Given the description of an element on the screen output the (x, y) to click on. 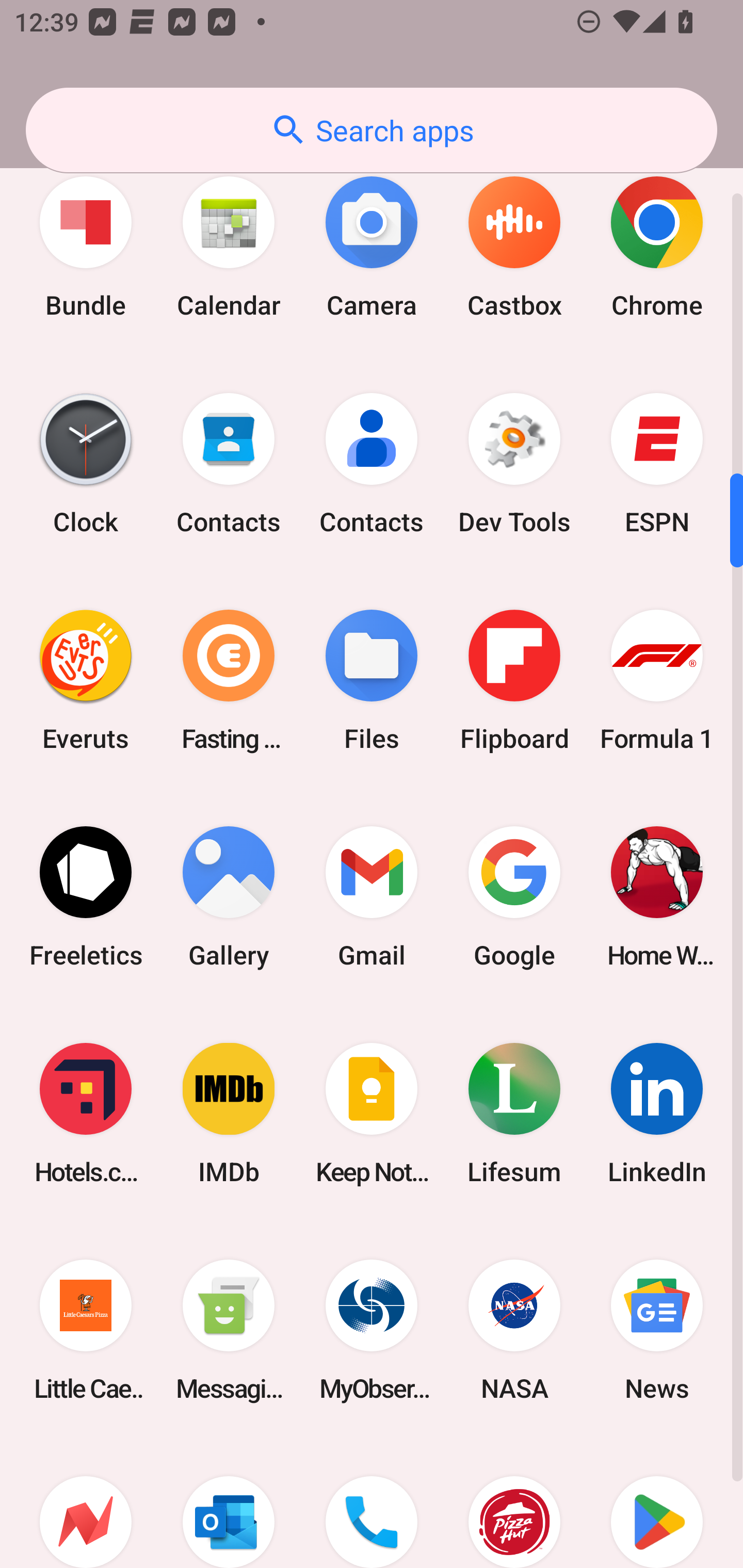
  Search apps (371, 130)
Bundle (85, 246)
Calendar (228, 246)
Camera (371, 246)
Castbox (514, 246)
Chrome (656, 246)
Clock (85, 463)
Contacts (228, 463)
Contacts (371, 463)
Dev Tools (514, 463)
ESPN (656, 463)
Everuts (85, 680)
Fasting Coach (228, 680)
Files (371, 680)
Flipboard (514, 680)
Formula 1 (656, 680)
Freeletics (85, 896)
Gallery (228, 896)
Gmail (371, 896)
Google (514, 896)
Home Workout (656, 896)
Hotels.com (85, 1113)
IMDb (228, 1113)
Keep Notes (371, 1113)
Lifesum (514, 1113)
LinkedIn (656, 1113)
Little Caesars Pizza (85, 1329)
Messaging (228, 1329)
MyObservatory (371, 1329)
NASA (514, 1329)
News (656, 1329)
NewsBreak (85, 1502)
Outlook (228, 1502)
Phone (371, 1502)
Pizza Hut HK & Macau (514, 1502)
Play Store (656, 1502)
